Given the description of an element on the screen output the (x, y) to click on. 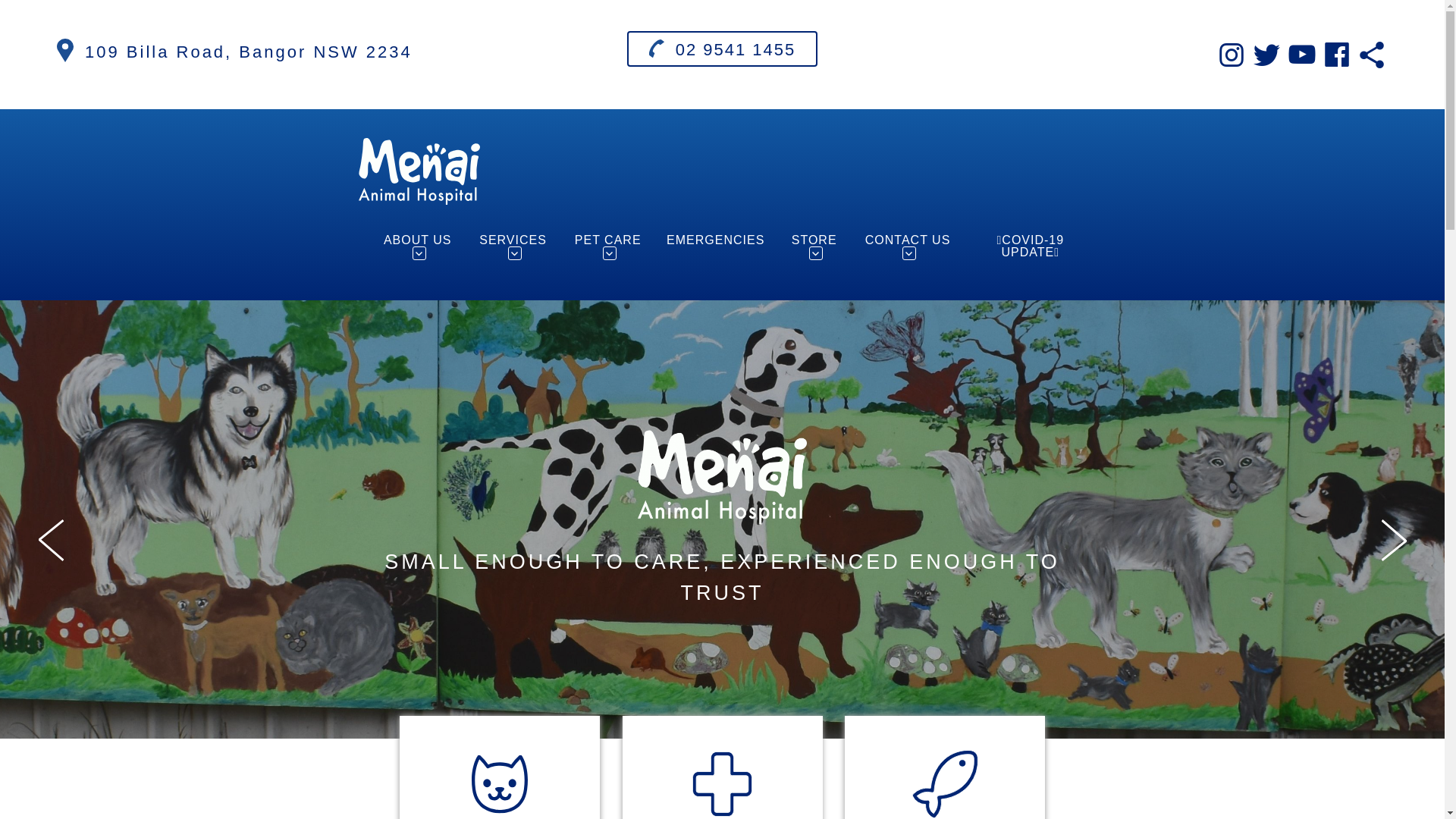
CONTACT US Element type: text (907, 247)
STORE Element type: text (813, 247)
PET CARE Element type: text (607, 247)
ABOUT US Element type: text (416, 247)
02 9541 1455 Element type: text (722, 48)
SERVICES Element type: text (512, 247)
EMERGENCIES Element type: text (715, 240)
109 Billa Road, Bangor NSW 2234 Element type: text (248, 51)
